Given the description of an element on the screen output the (x, y) to click on. 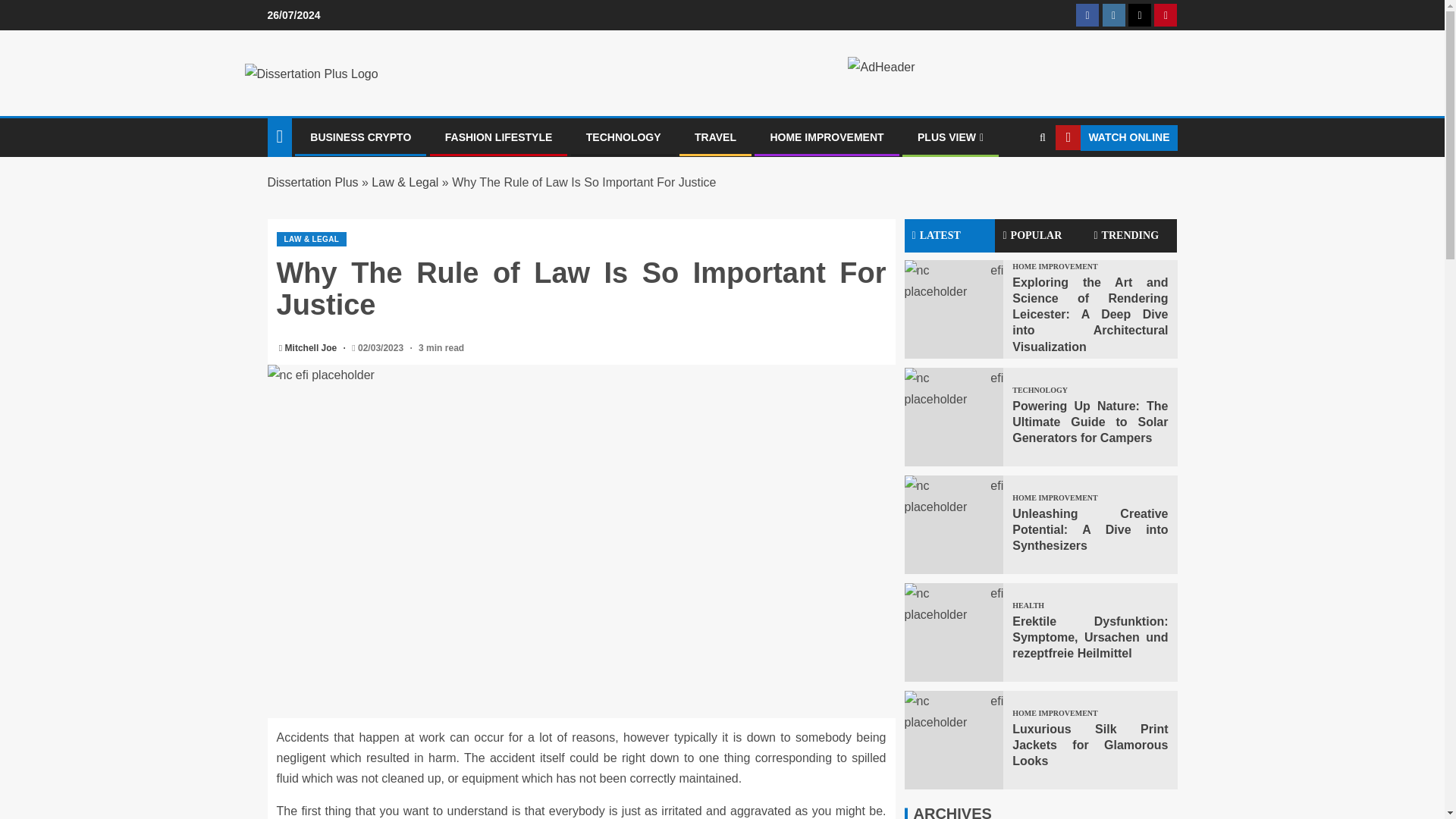
Dissertation Plus (312, 182)
TRAVEL (715, 137)
Luxurious Silk Print Jackets for Glamorous Looks (953, 740)
FASHION LIFESTYLE (499, 137)
Search (1013, 184)
TECHNOLOGY (623, 137)
WATCH ONLINE (1115, 137)
HOME IMPROVEMENT (826, 137)
BUSINESS CRYPTO (360, 137)
PLUS VIEW (950, 137)
Mitchell Joe (312, 347)
Unleashing Creative Potential: A Dive into Synthesizers (953, 524)
